Given the description of an element on the screen output the (x, y) to click on. 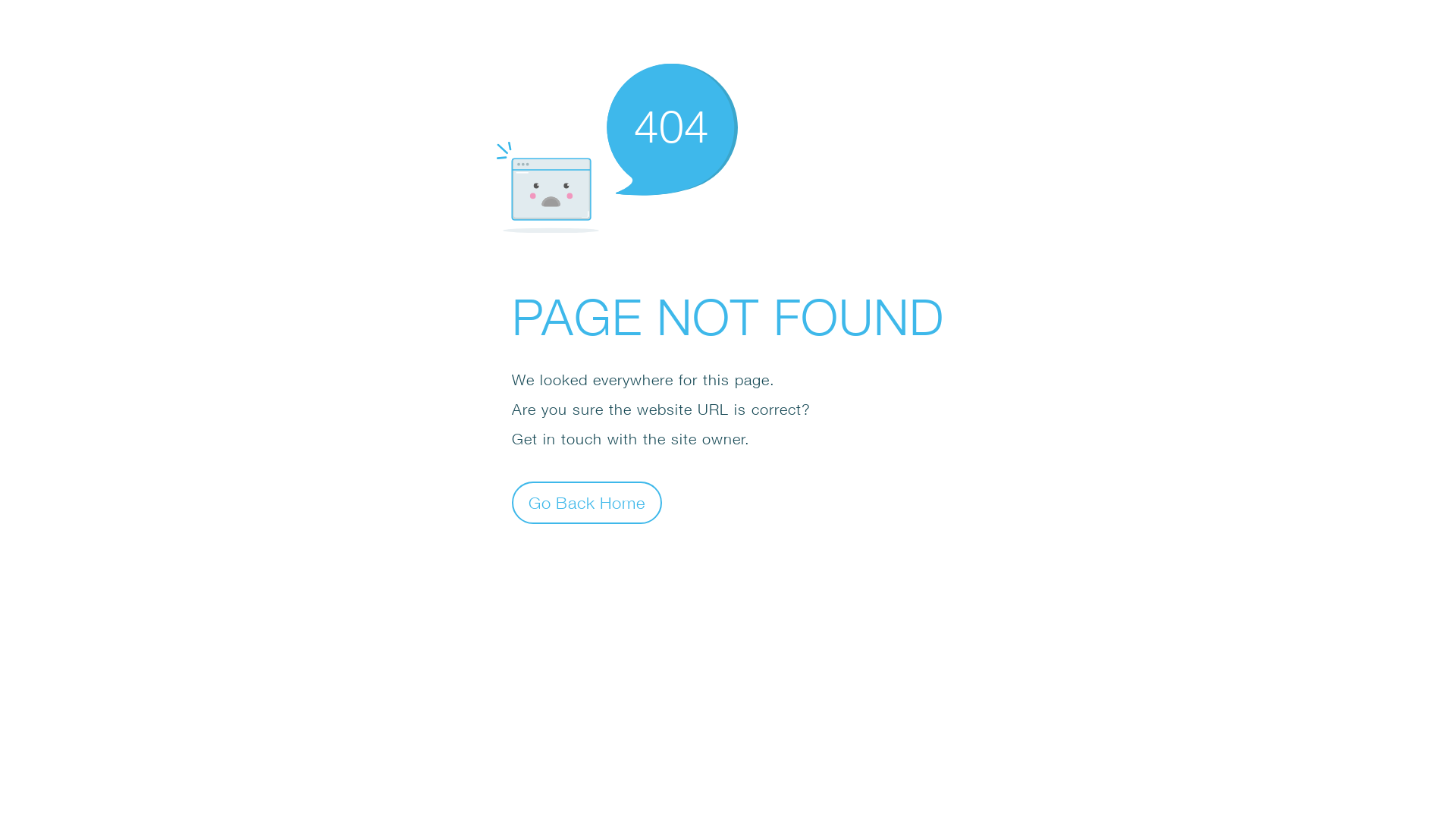
Go Back Home Element type: text (586, 502)
